Given the description of an element on the screen output the (x, y) to click on. 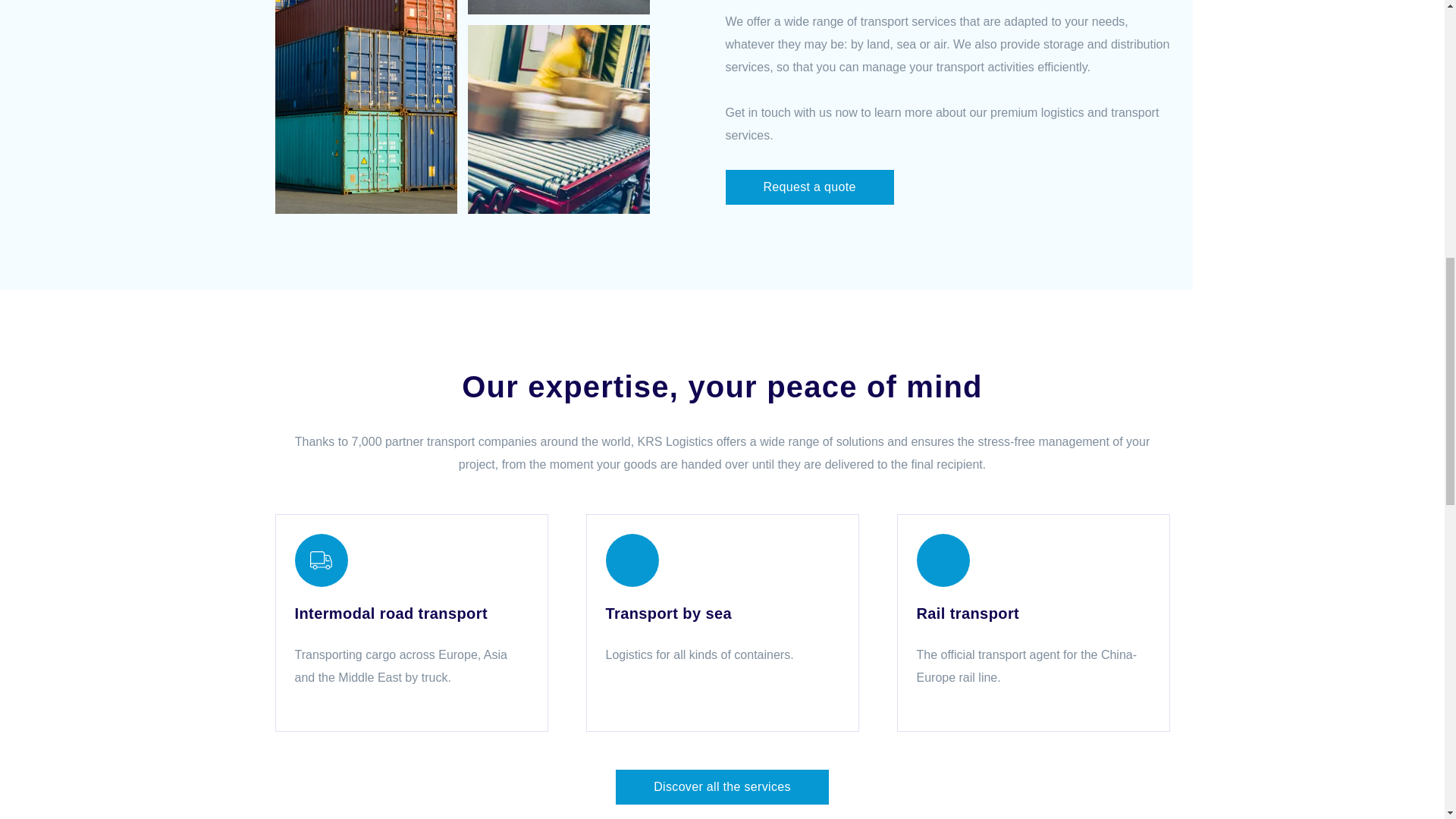
En savoir plus (722, 623)
Request a quote (809, 186)
En savoir plus (411, 623)
En savoir plus (1033, 623)
Discover all the services (721, 786)
